Given the description of an element on the screen output the (x, y) to click on. 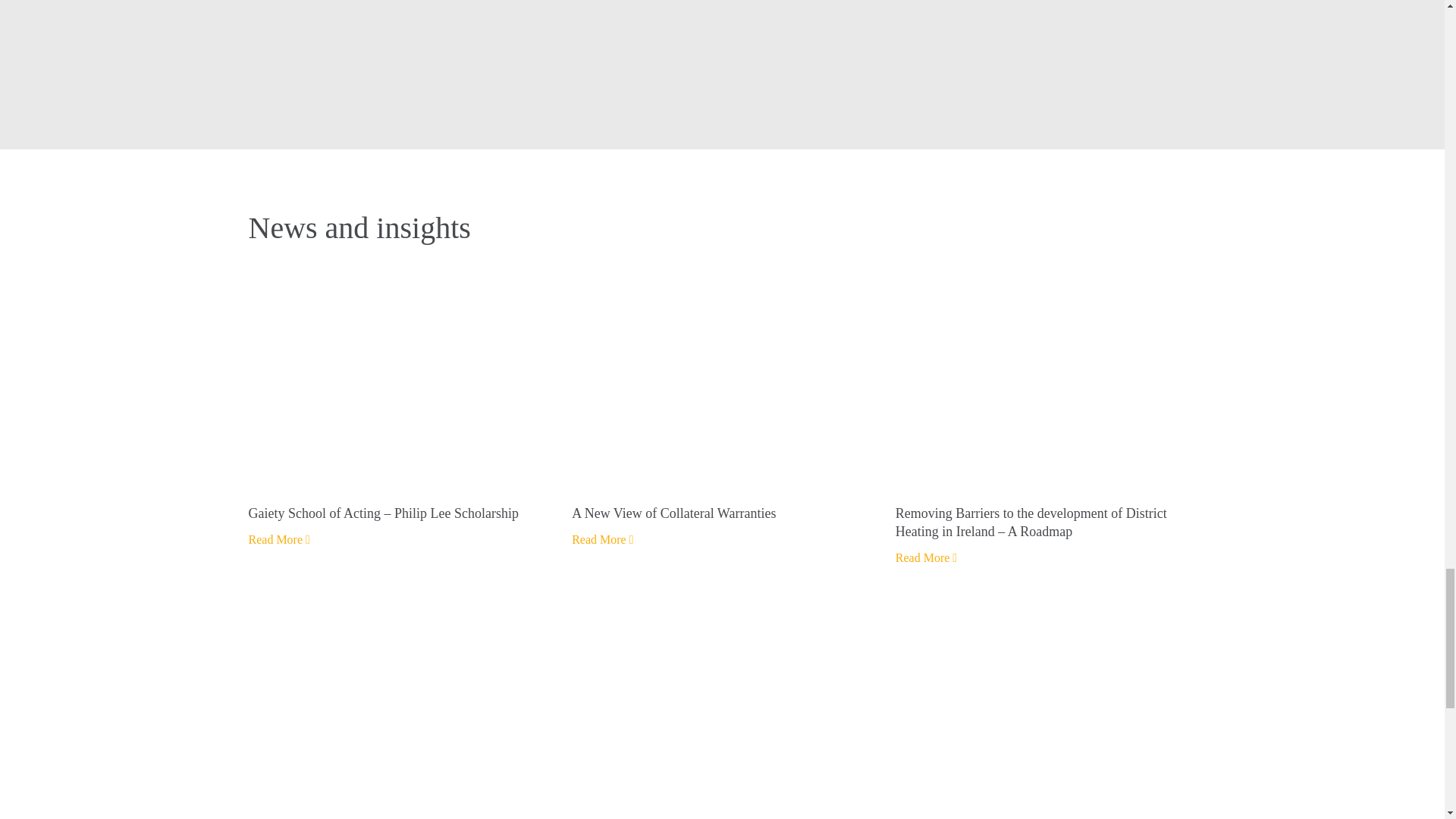
A New View of Collateral Warranties (722, 513)
